Given the description of an element on the screen output the (x, y) to click on. 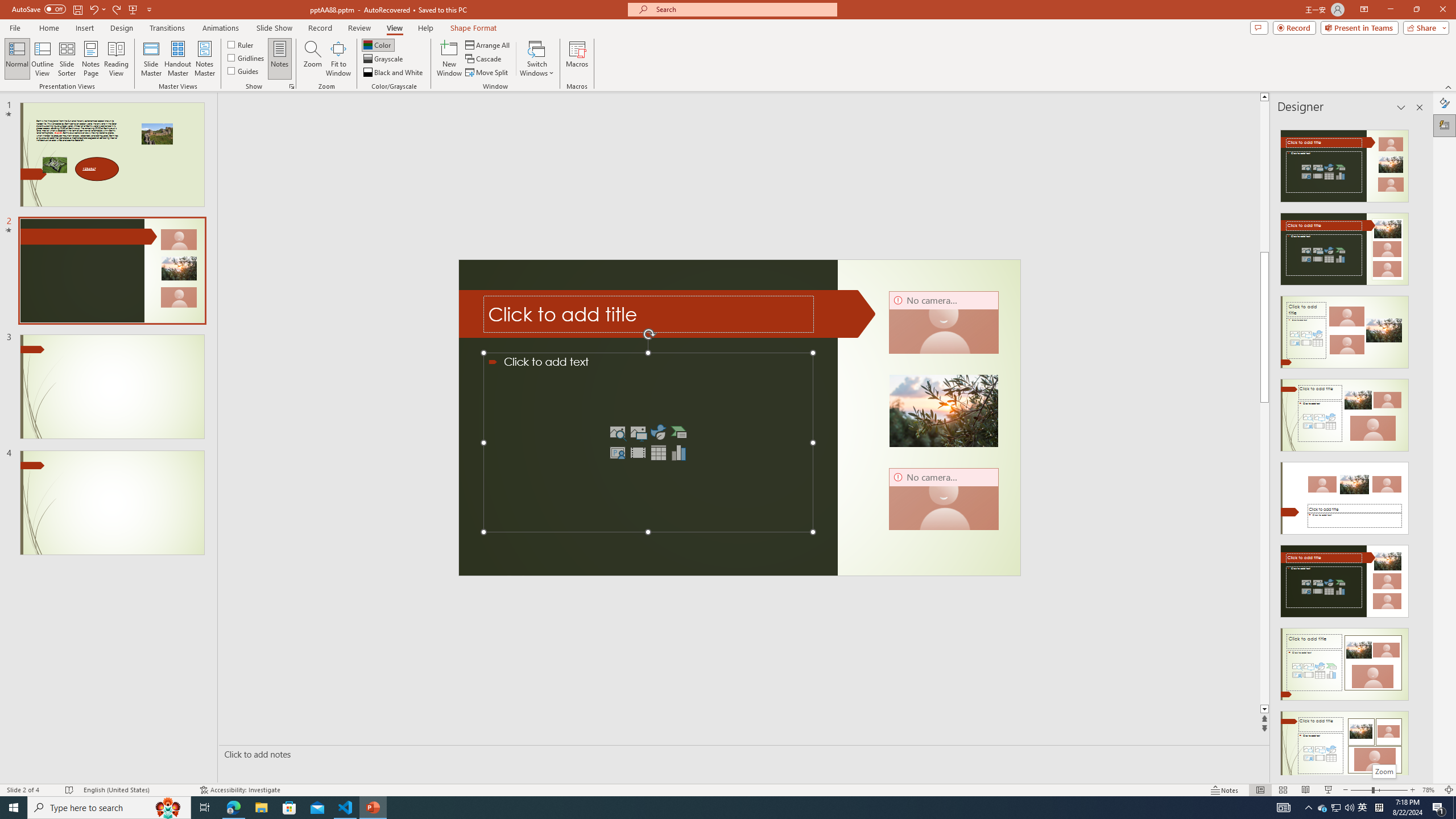
Fit to Window (338, 58)
Gridlines (246, 56)
Design Idea (1344, 743)
Decorative Locked (666, 313)
